Given the description of an element on the screen output the (x, y) to click on. 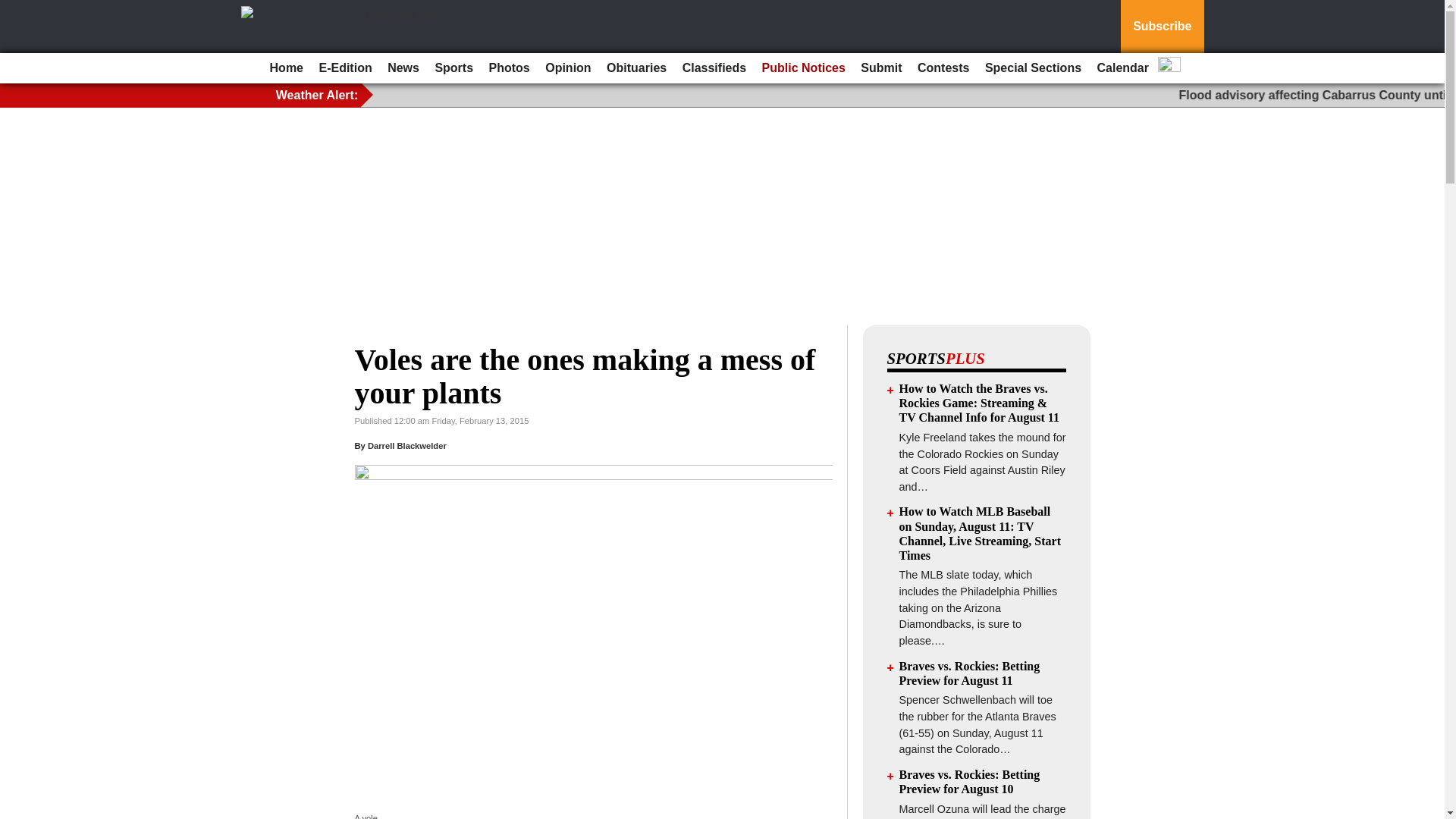
Obituaries (635, 68)
Contests (943, 68)
Opinion (567, 68)
Sports (453, 68)
E-Edition (345, 68)
Home (285, 68)
News (403, 68)
Public Notices (803, 68)
Subscribe (1162, 26)
Photos (509, 68)
